Given the description of an element on the screen output the (x, y) to click on. 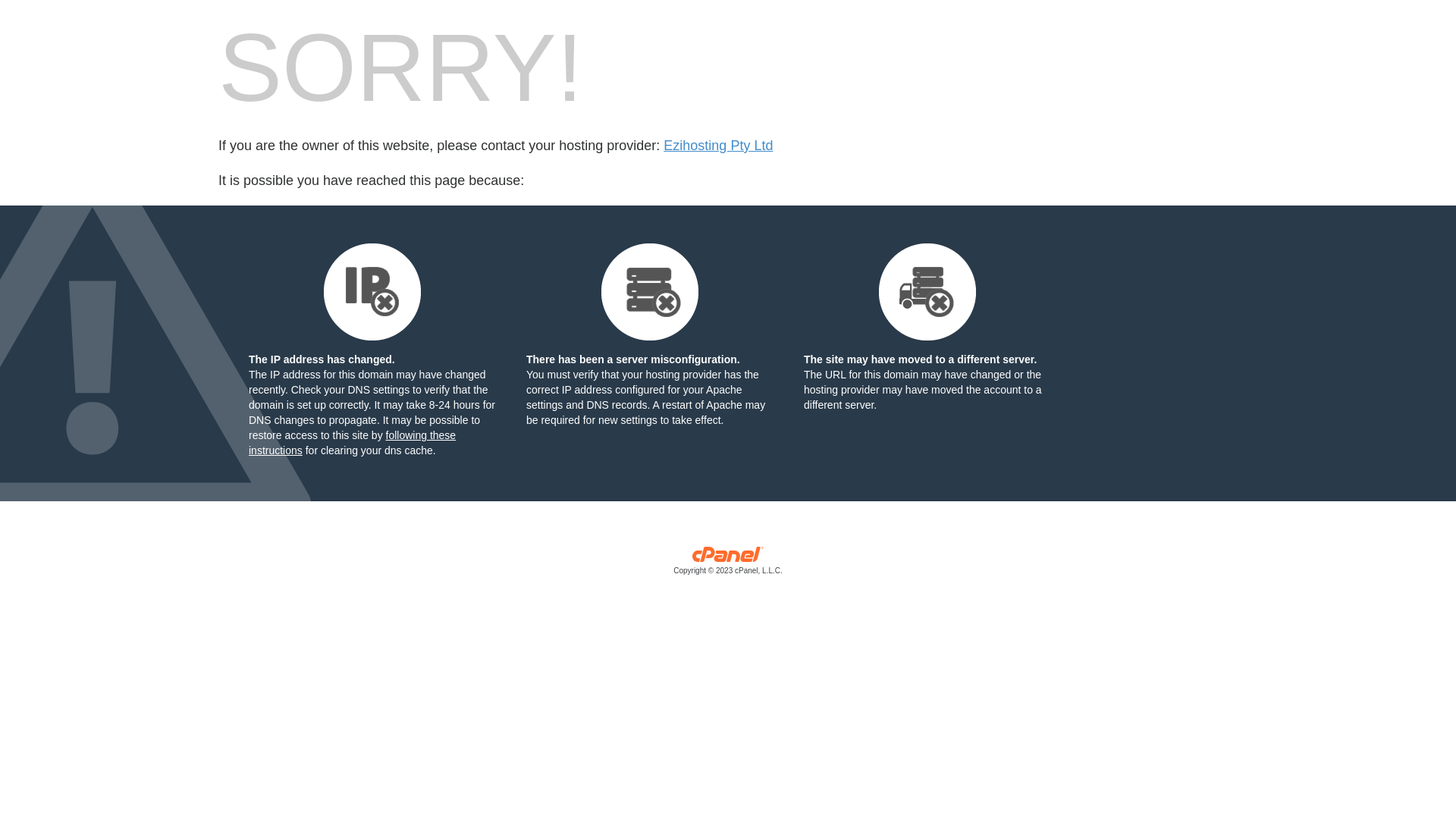
following these instructions Element type: text (351, 442)
Ezihosting Pty Ltd Element type: text (717, 145)
